Given the description of an element on the screen output the (x, y) to click on. 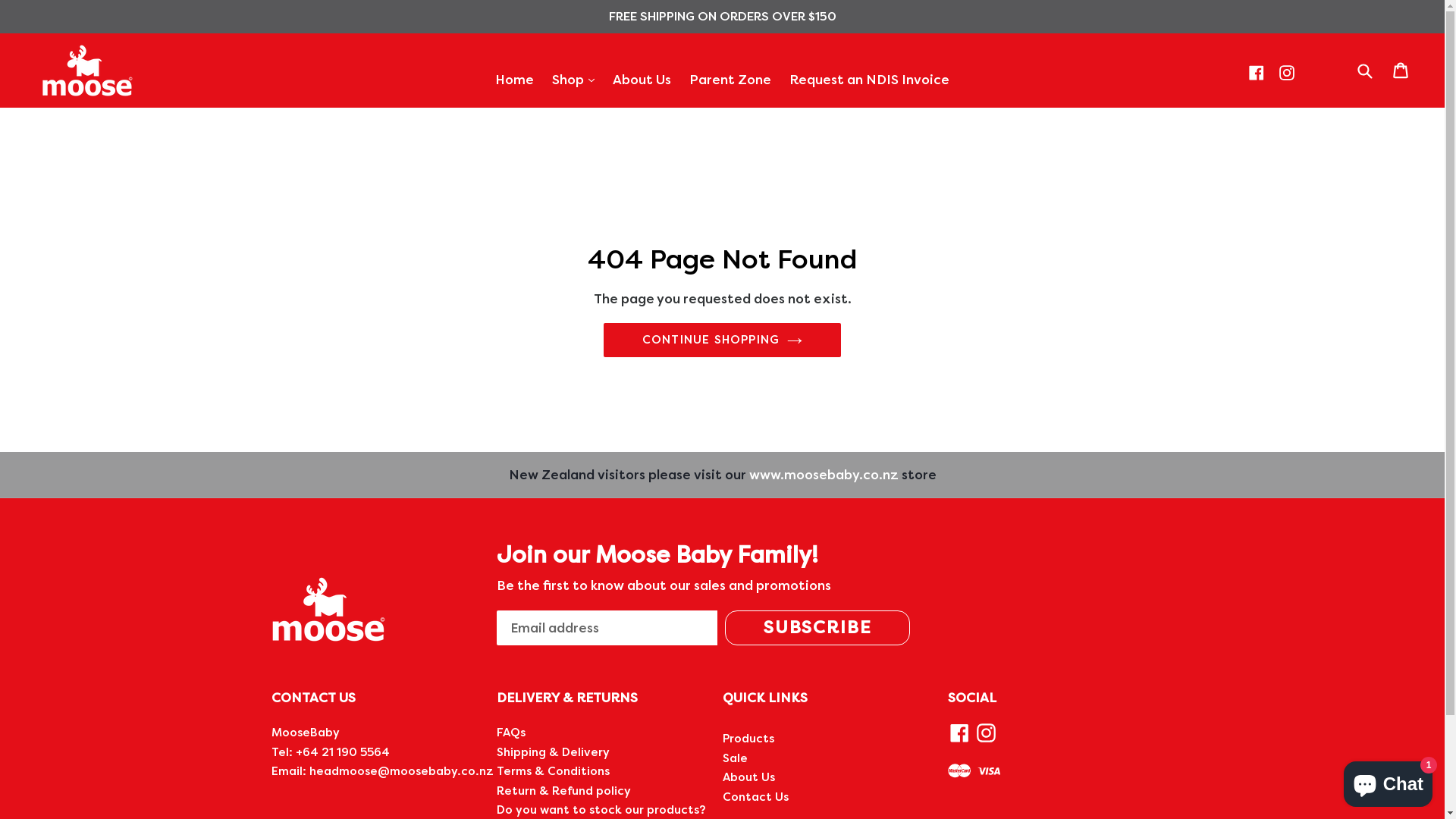
Instagram Element type: text (985, 732)
Facebook Element type: text (959, 732)
Products Element type: text (747, 738)
Return & Refund policy Element type: text (563, 790)
Contact Us Element type: text (754, 796)
Instagram Element type: text (1286, 72)
headmoose@moosebaby.co.nz Element type: text (401, 771)
CONTINUE SHOPPING Element type: text (721, 340)
www.moosebaby.co.nz Element type: text (823, 474)
Submit Element type: text (1363, 69)
Do you want to stock our products? Element type: text (600, 809)
Shopify online store chat Element type: hover (1388, 780)
About Us Element type: text (641, 80)
Terms & Conditions Element type: text (552, 771)
FAQs Element type: text (510, 732)
SUBSCRIBE Element type: text (817, 627)
Parent Zone Element type: text (729, 80)
Facebook Element type: text (1256, 72)
Cart
Cart Element type: text (1401, 70)
Shipping & Delivery Element type: text (552, 752)
Sale Element type: text (733, 758)
Home Element type: text (514, 80)
About Us Element type: text (747, 777)
Request an NDIS Invoice Element type: text (869, 80)
